Given the description of an element on the screen output the (x, y) to click on. 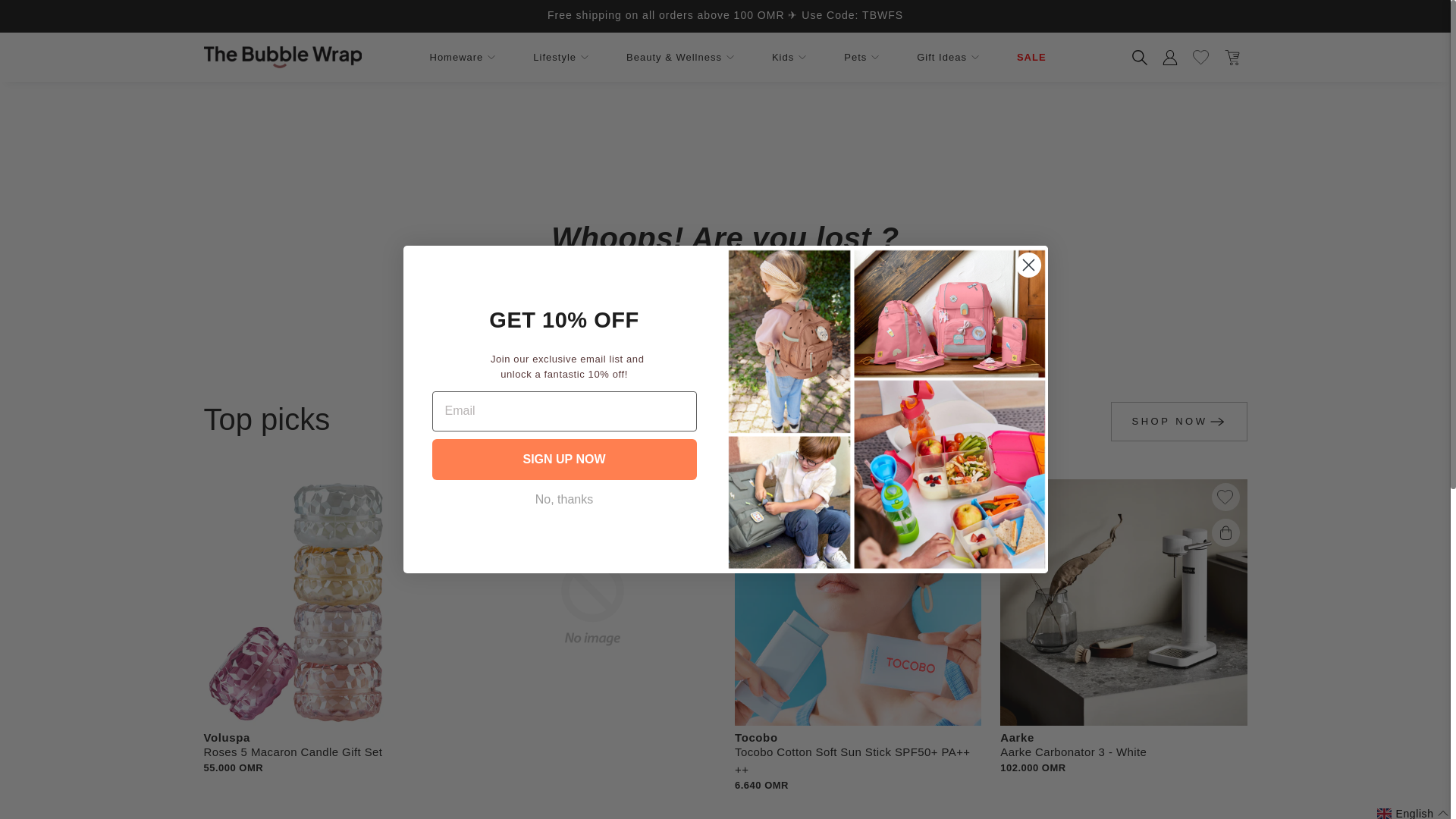
Homeware (462, 57)
All products (810, 319)
Lifestyle (560, 57)
thebubblewrap.com (282, 56)
